Given the description of an element on the screen output the (x, y) to click on. 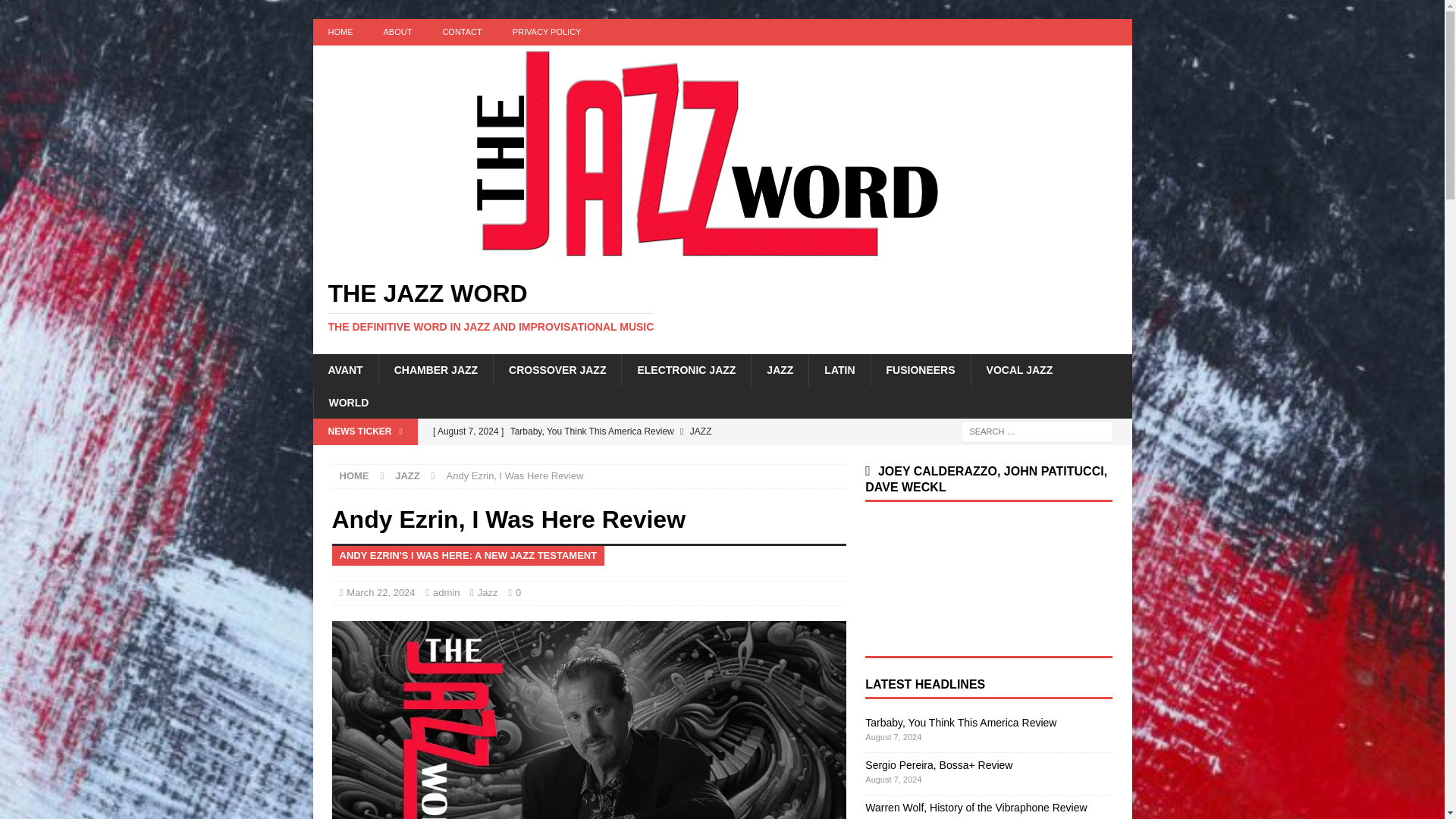
admin (446, 592)
March 22, 2024 (380, 592)
HOME (354, 475)
ABOUT (398, 31)
WORLD (348, 402)
CROSSOVER JAZZ (557, 369)
CHAMBER JAZZ (435, 369)
LATIN (838, 369)
VOCAL JAZZ (1019, 369)
